Given the description of an element on the screen output the (x, y) to click on. 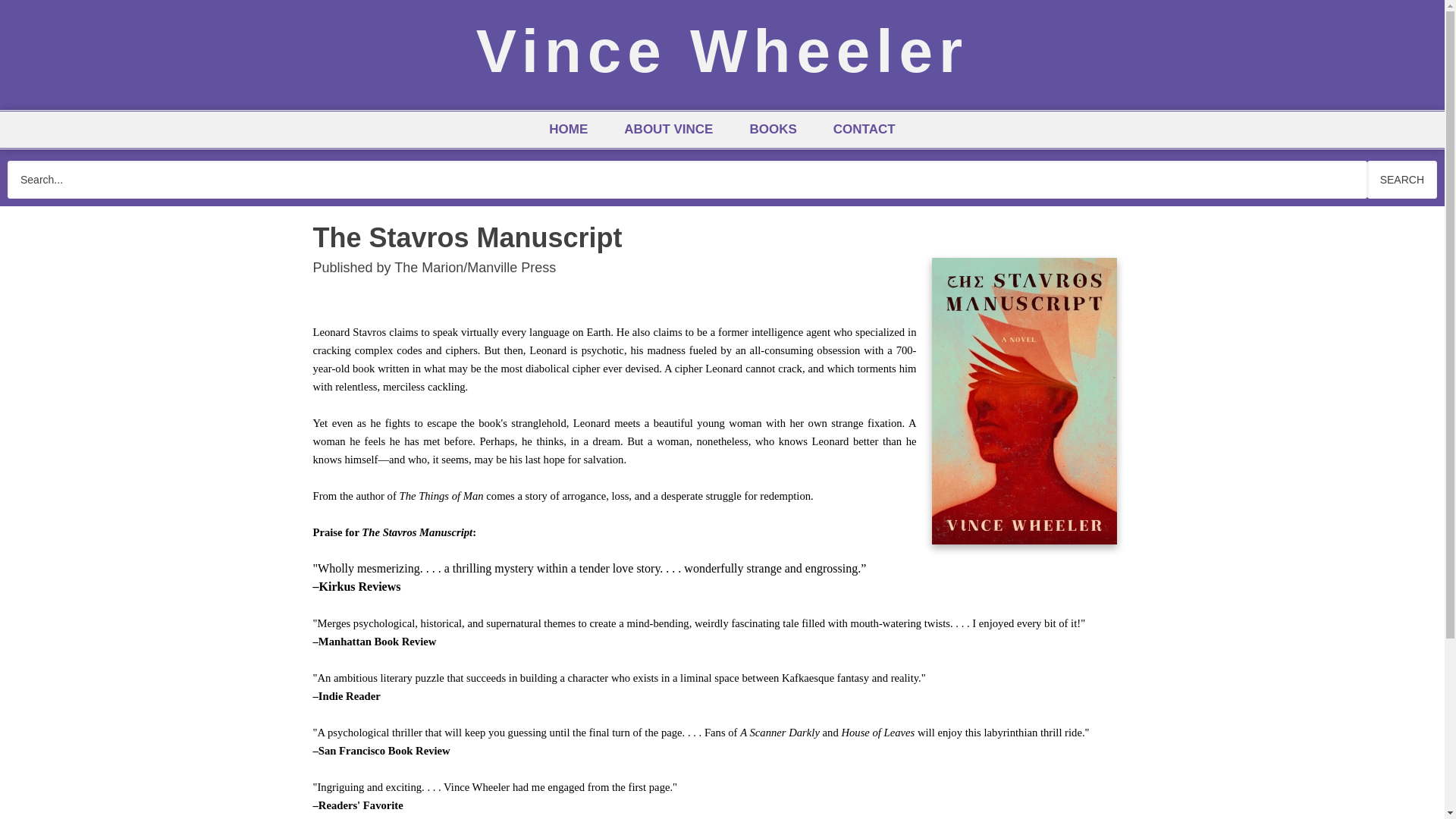
Search (1402, 179)
Vince Wheeler (722, 51)
CONTACT (864, 129)
ABOUT VINCE (667, 129)
HOME (568, 129)
Search (1402, 179)
BOOKS (771, 129)
